Given the description of an element on the screen output the (x, y) to click on. 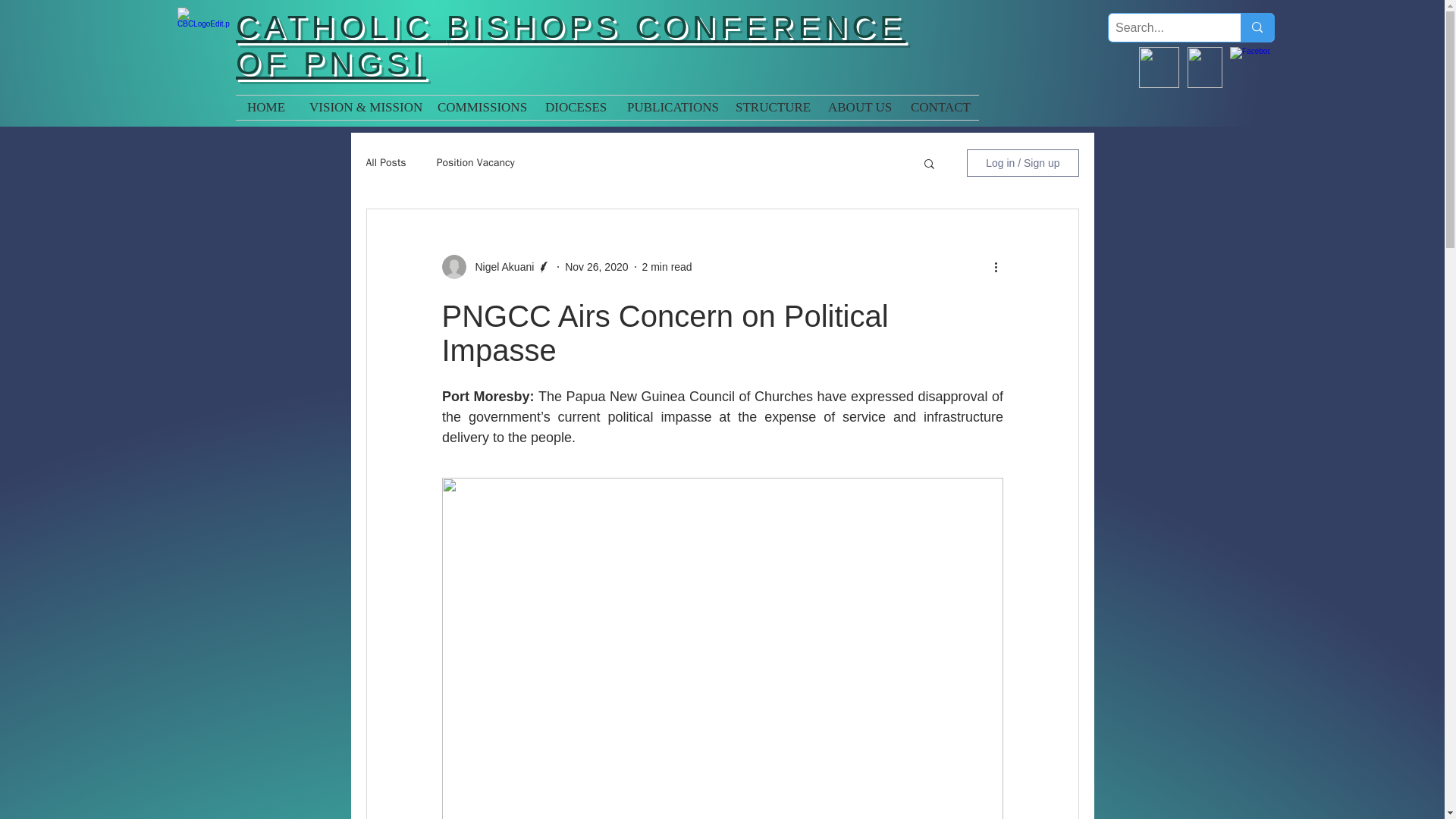
COMMISSIONS (480, 107)
vaticanNewsLogoEdit.png (1158, 66)
CATHOLIC BISHOPS CONFERENCE OF PNGSI (570, 45)
HOME (266, 107)
2 min read (667, 266)
Nov 26, 2020 (595, 266)
DIOCESES (574, 107)
